Given the description of an element on the screen output the (x, y) to click on. 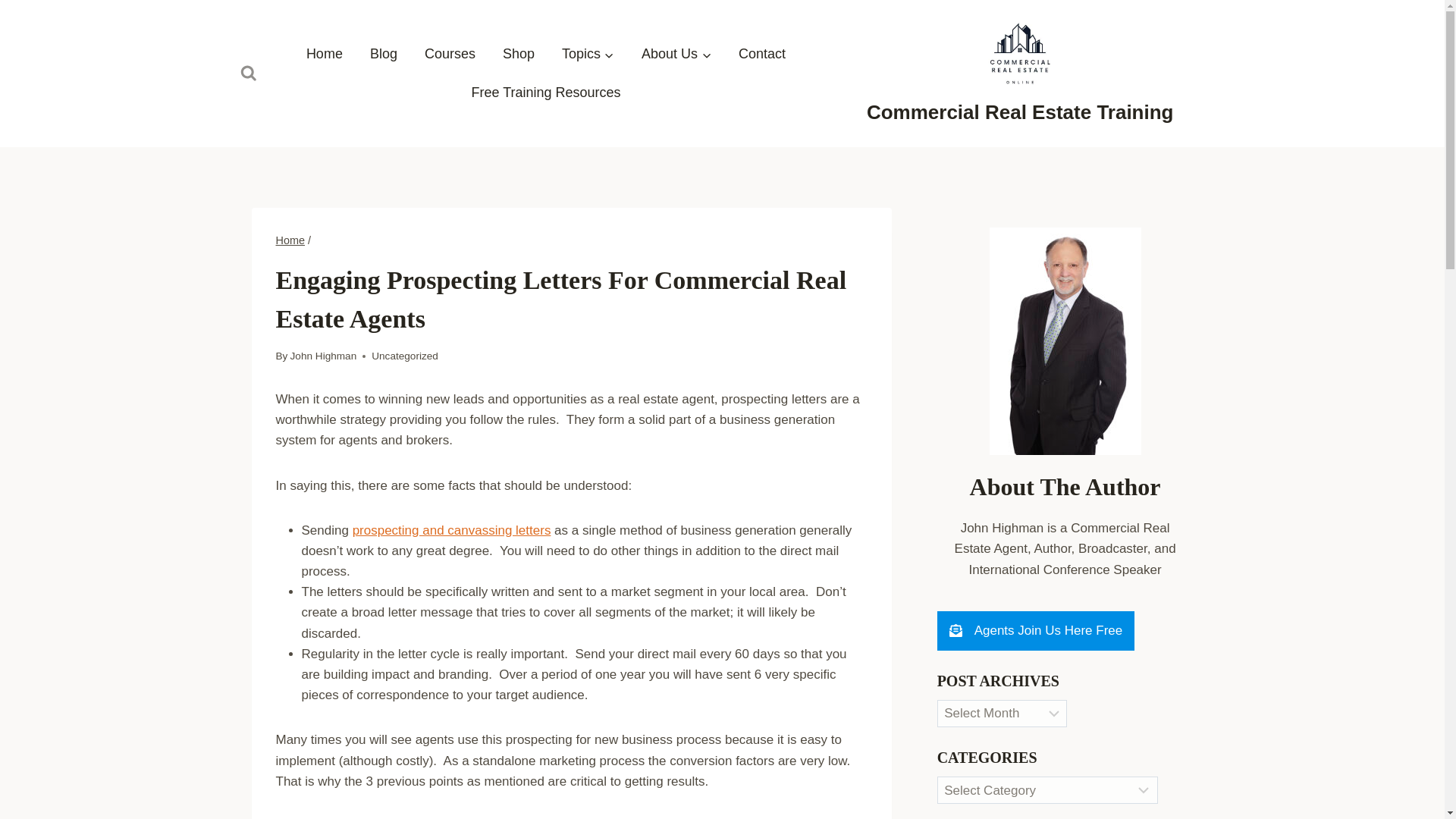
Shop (518, 54)
About Us (676, 54)
Contact (762, 54)
Courses (449, 54)
John Highman (322, 355)
Blog (383, 54)
prospecting and canvassing letters (451, 530)
Topics (587, 54)
Commercial Real Estate Training Home Page (324, 54)
Commercial Real Estate Training (1019, 71)
Free Training Resources (545, 92)
Home (324, 54)
commercial real estate training courses (449, 54)
Home (290, 240)
